Given the description of an element on the screen output the (x, y) to click on. 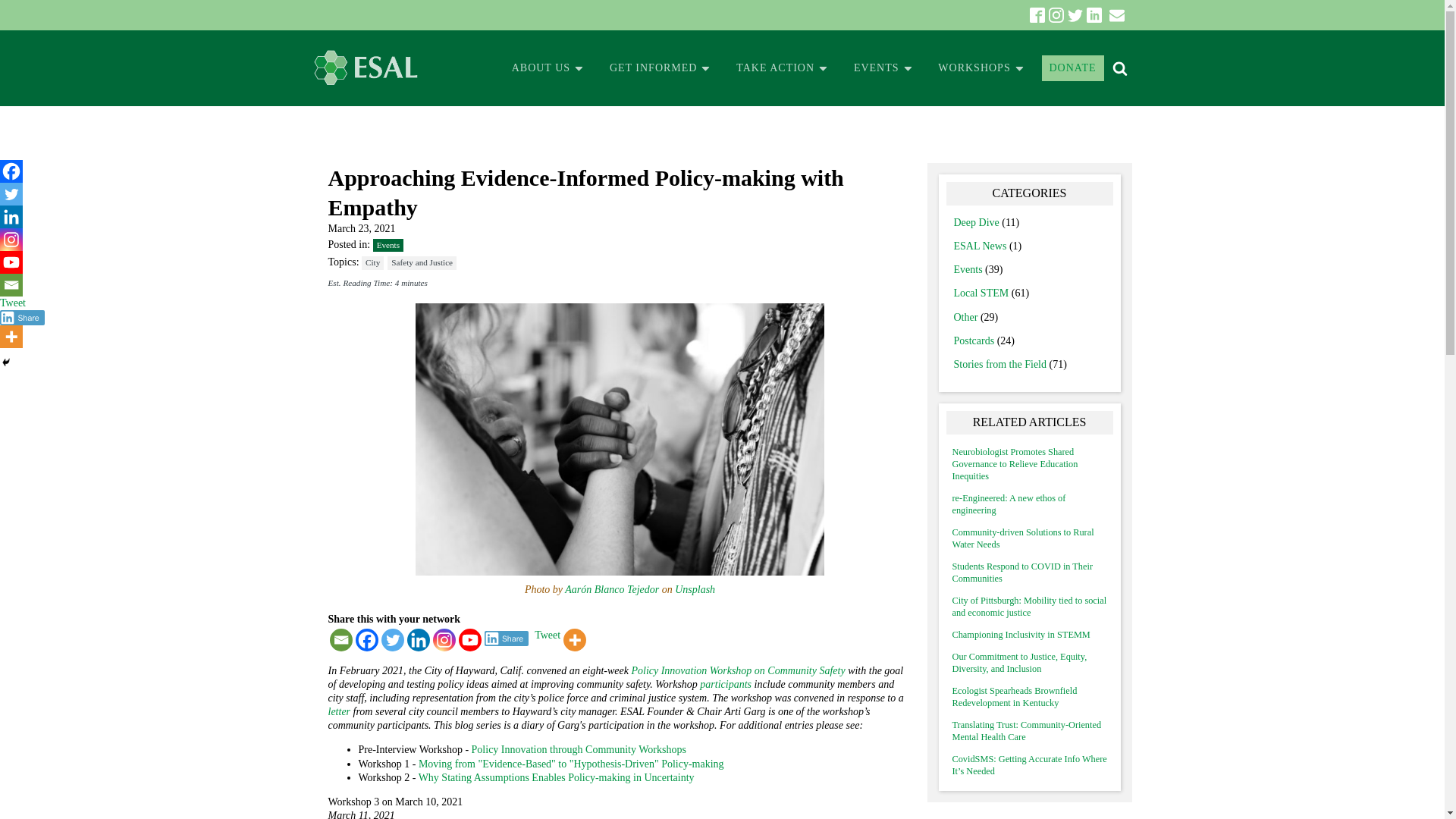
Facebook (11, 170)
Linkedin (417, 639)
GET INFORMED (659, 68)
Youtube (469, 639)
Safety and Justice (421, 261)
City (372, 261)
More (574, 639)
DONATE (1072, 68)
Hide (5, 362)
TAKE ACTION (782, 68)
Twitter (391, 639)
ABOUT US (547, 68)
WORKSHOPS (981, 68)
Instagram (11, 239)
Events (387, 244)
